Given the description of an element on the screen output the (x, y) to click on. 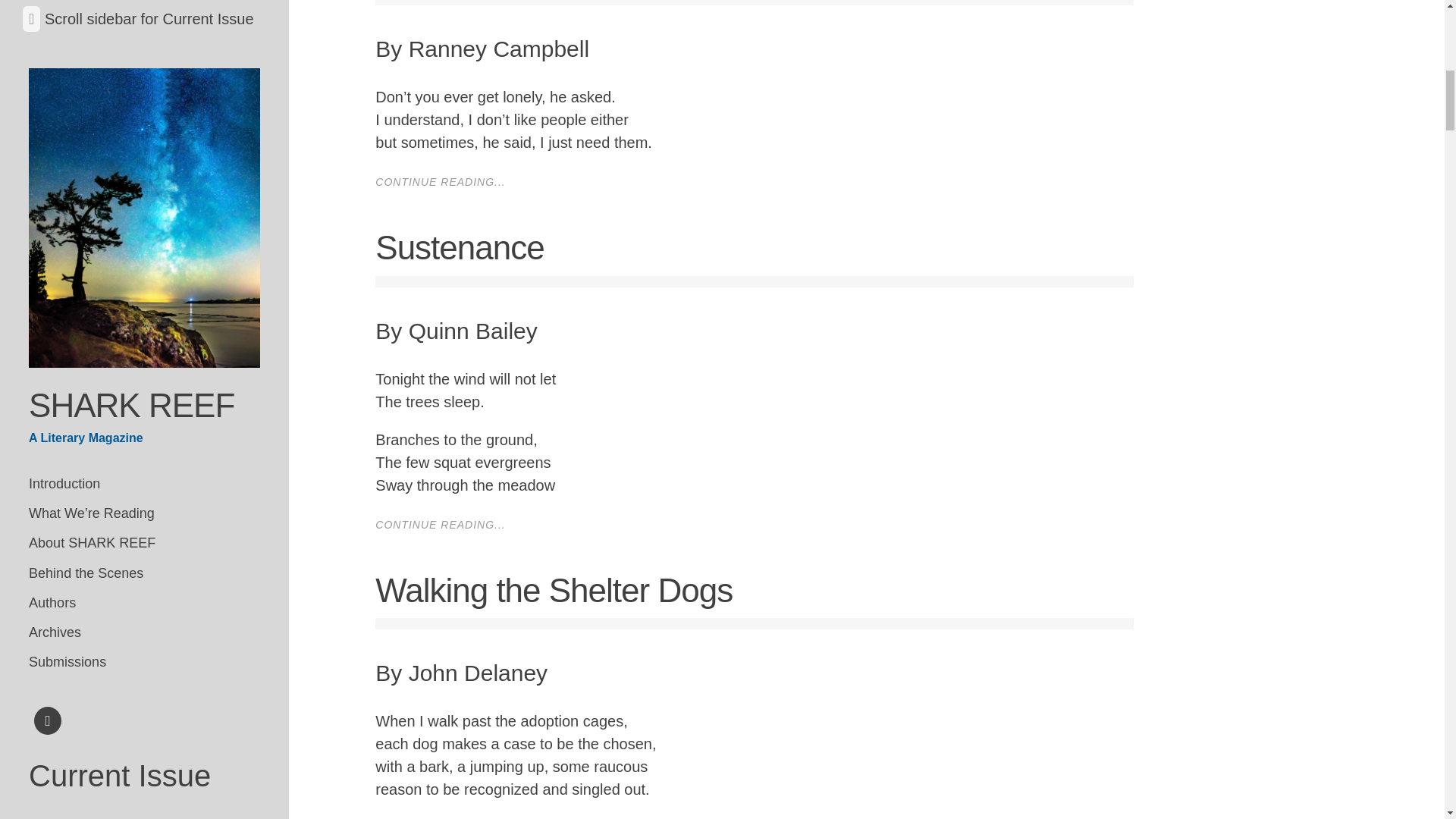
Linda Conroy (153, 472)
At the Zoo (56, 582)
Posts by Lorna Reese (152, 141)
Posts by Gayle Kaune (186, 527)
Where the Voices Took Her (102, 610)
Heather Durham (122, 275)
Without Dark, Would We See the Light? (136, 427)
Everyday Work (69, 500)
Jeremiah O'Hagan (176, 247)
Richard Widerkehr (133, 619)
